Given the description of an element on the screen output the (x, y) to click on. 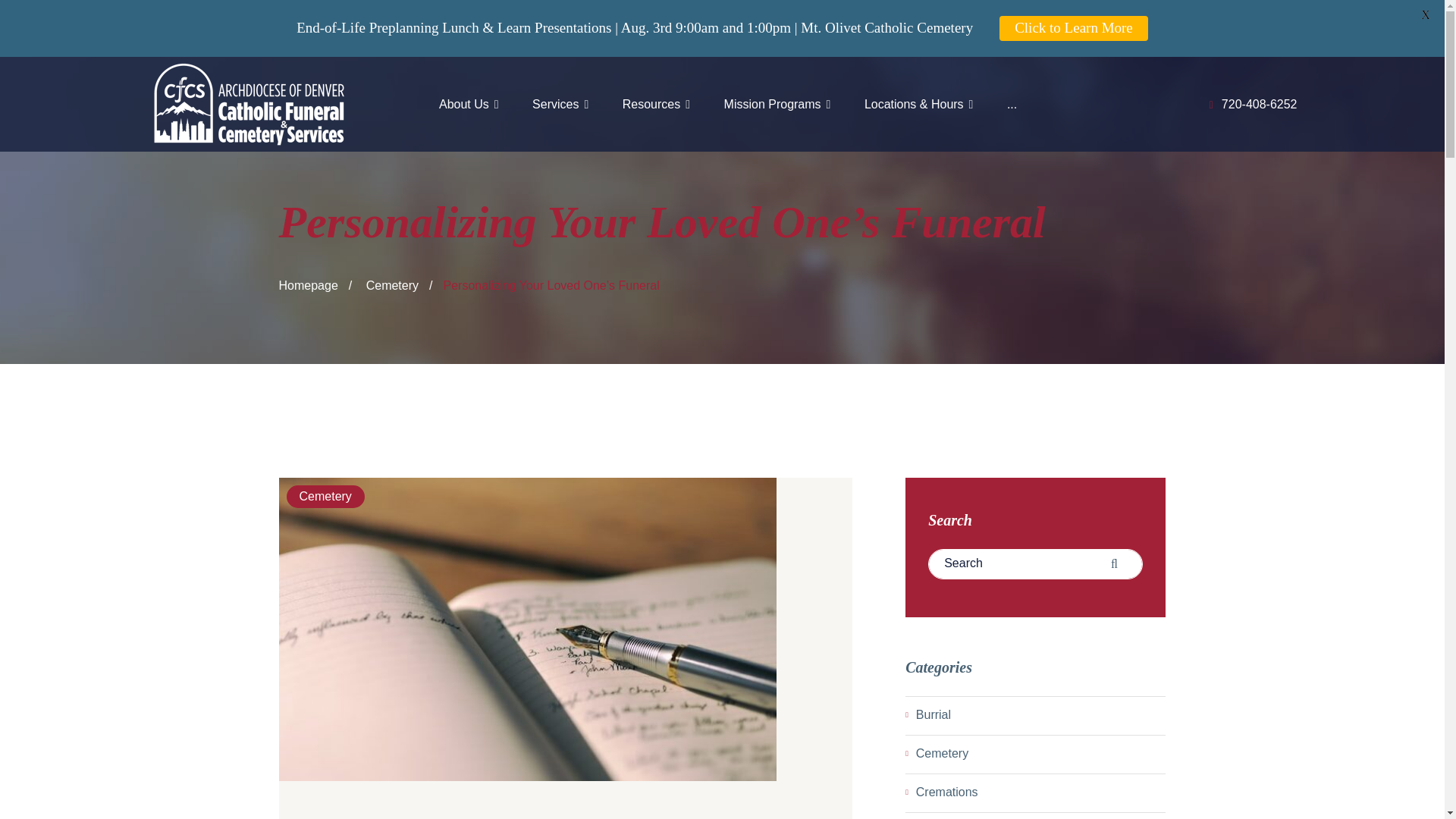
Search for: (1035, 563)
Resources (656, 103)
